Given the description of an element on the screen output the (x, y) to click on. 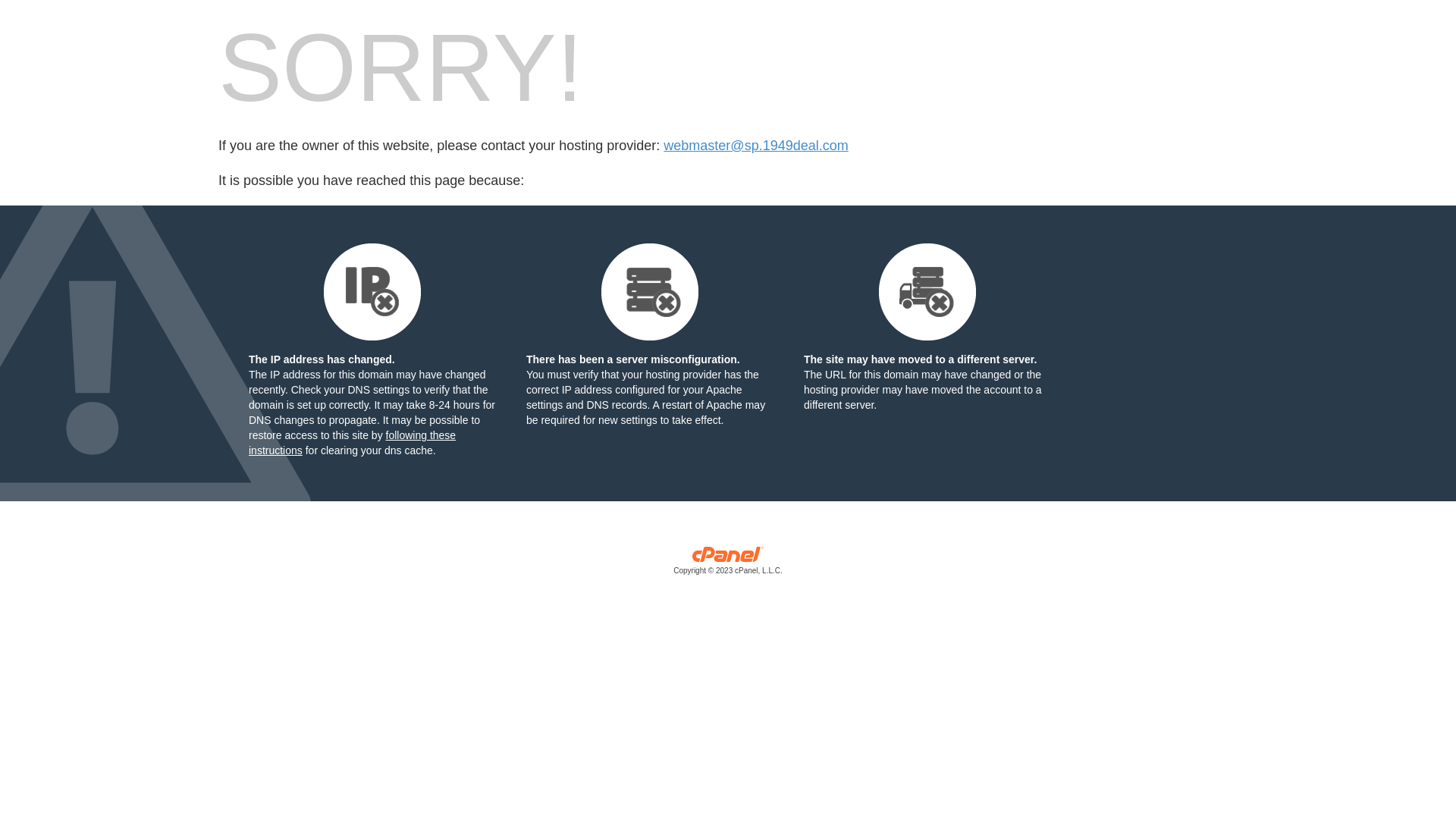
following these instructions Element type: text (351, 442)
webmaster@sp.1949deal.com Element type: text (755, 145)
